Given the description of an element on the screen output the (x, y) to click on. 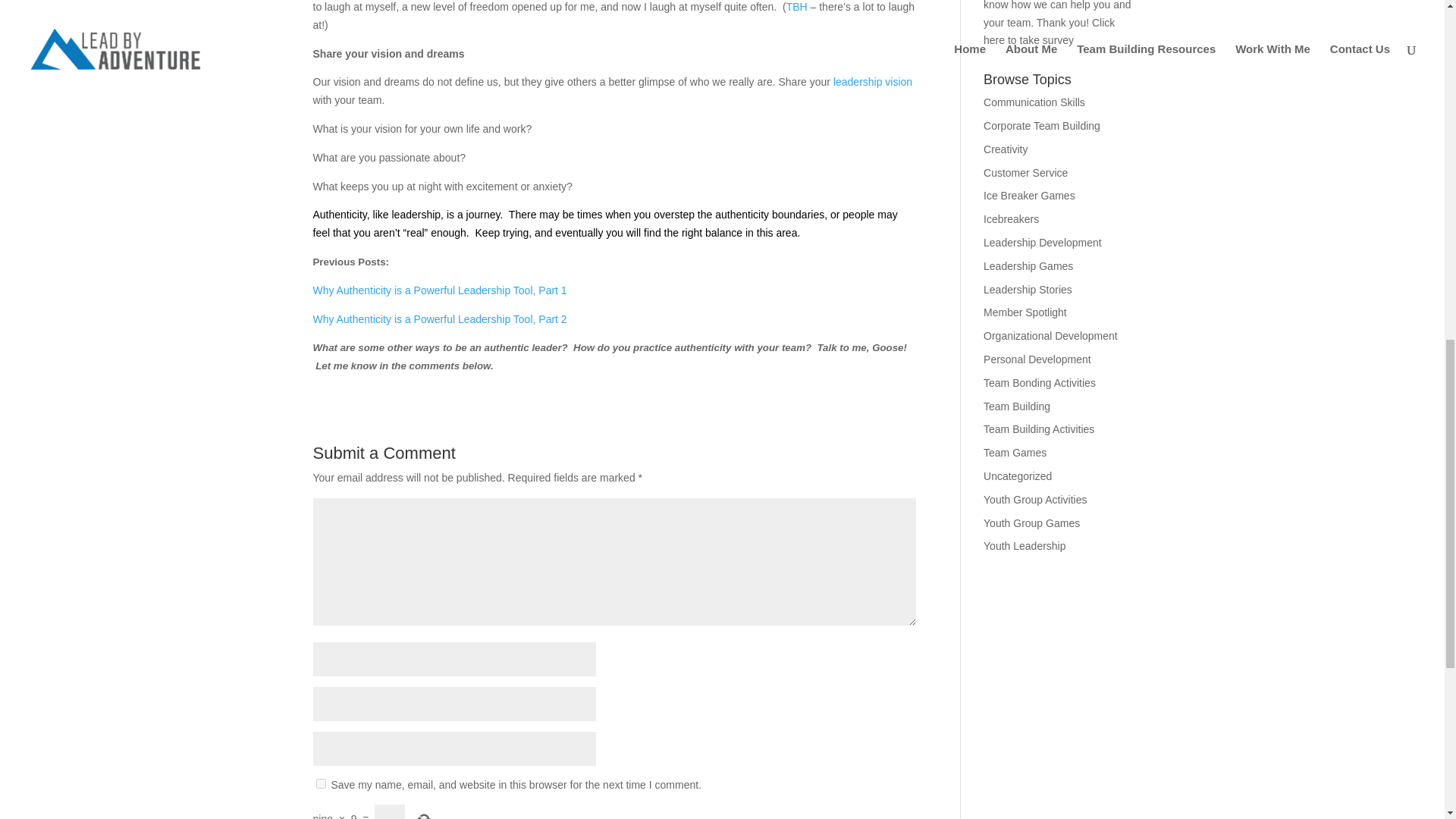
5 Key Traits of Great Leaders (872, 104)
Ice Breaker Games (1029, 218)
Icebreakers (1011, 241)
Why Authenticity is a Powerful Leadership Tool, Part 2 (439, 341)
Communication Skills (1034, 124)
Customer Service (1025, 195)
Why Authenticity is a Powerful Leadership Tool, Part 1 (439, 313)
Why Authenticity is a Powerful Leadership Tool, Part 1 (439, 313)
Click here to take survey (1049, 54)
Why Authenticity is a Powerful Leadership Tool, Part 2 (439, 341)
Corporate Team Building (1042, 148)
leadership vision (872, 104)
Creativity (1005, 172)
TBH  (798, 29)
yes (319, 806)
